Given the description of an element on the screen output the (x, y) to click on. 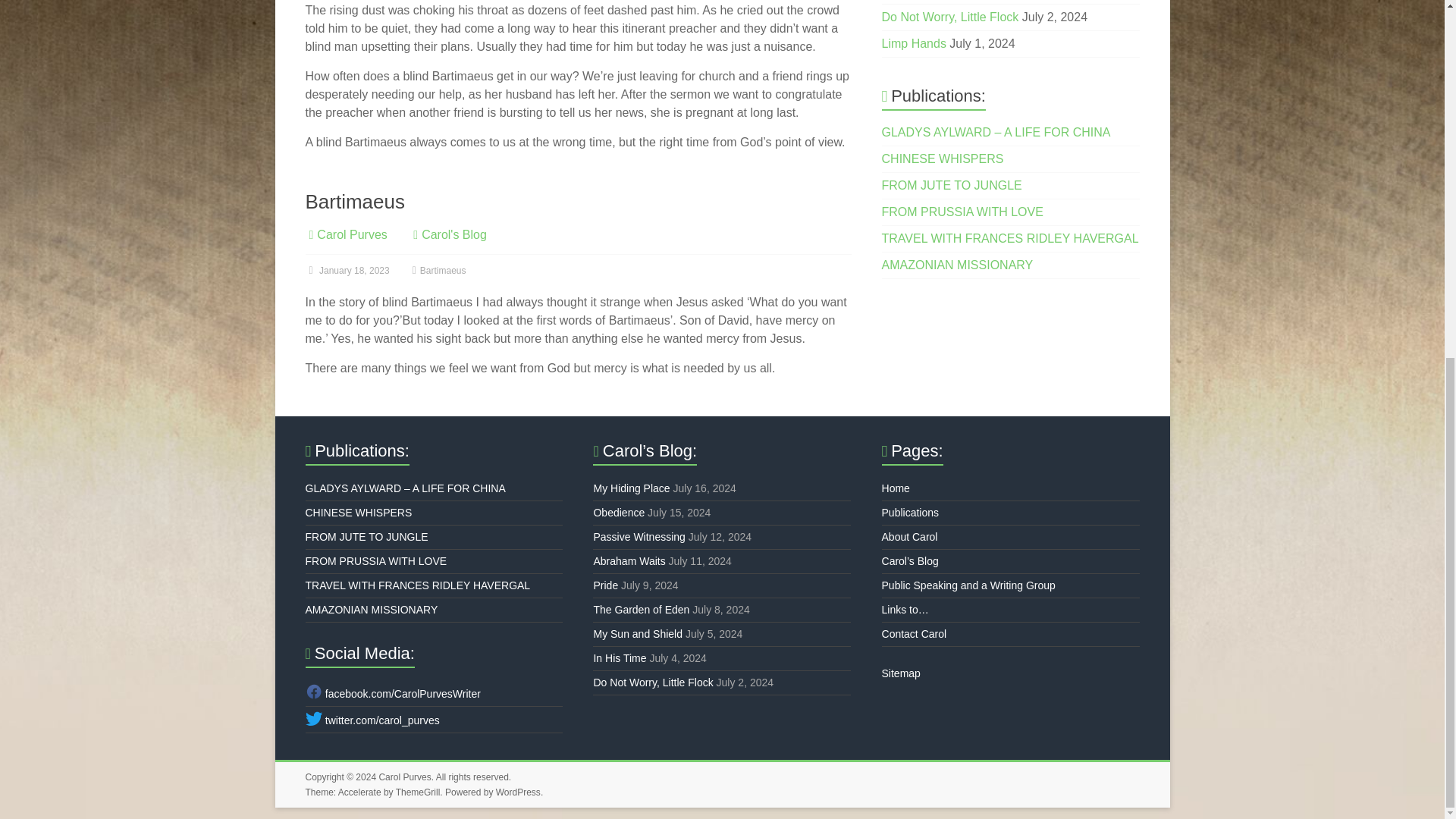
Carol Purves (352, 234)
Carol Purves (352, 234)
Carol's Blog (454, 234)
Accelerate (359, 792)
Carol Purves (404, 777)
January 18, 2023 (346, 270)
WordPress (518, 792)
10:01 am (346, 270)
Bartimaeus (442, 270)
Bartimaeus (354, 201)
Bartimaeus (354, 201)
